Given the description of an element on the screen output the (x, y) to click on. 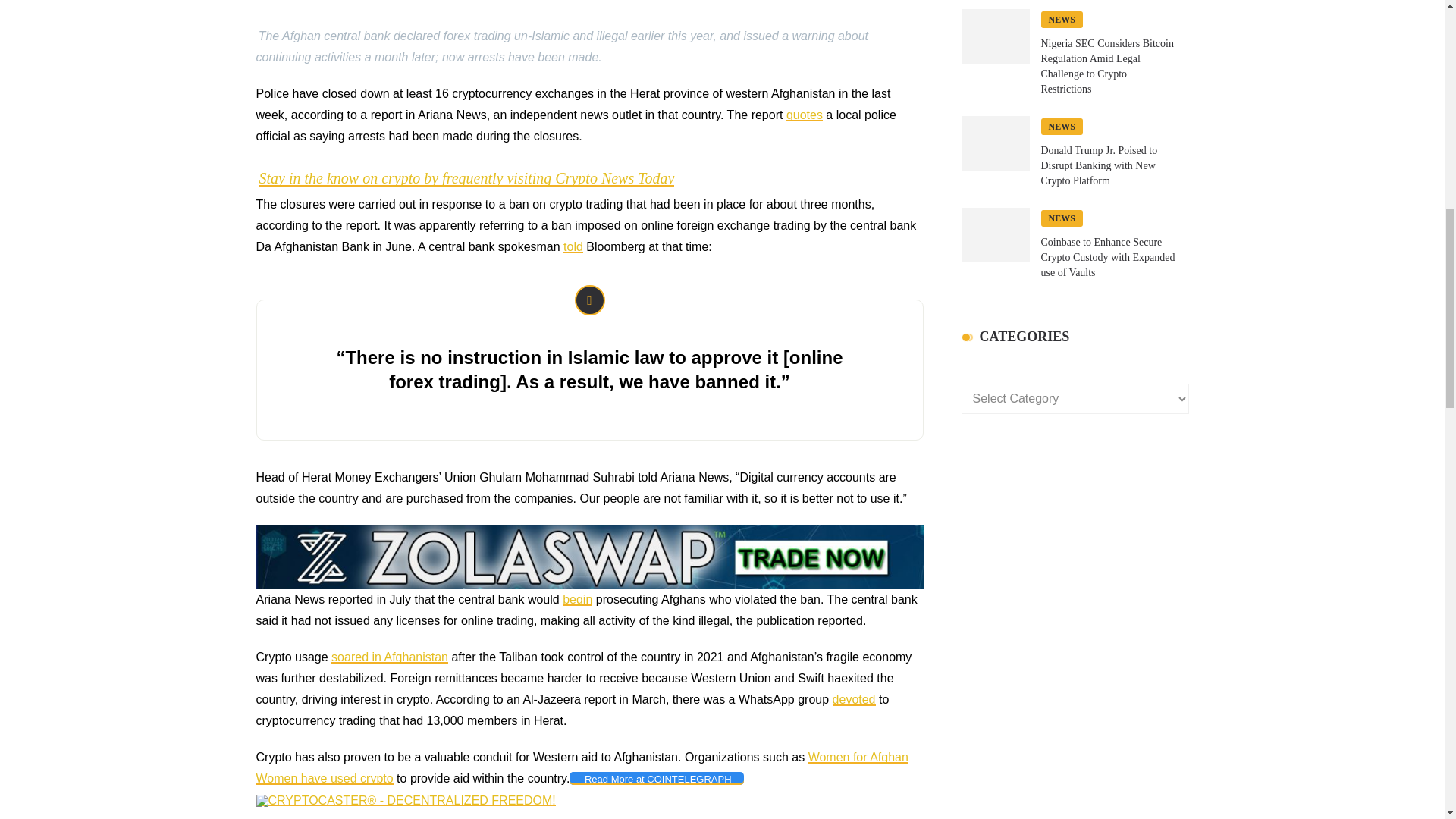
devoted (854, 698)
quotes (804, 114)
soared in Afghanistan (389, 656)
Read More at COINTELEGRAPH (655, 778)
told (573, 246)
Women for Afghan Women have used crypto (582, 767)
begin (577, 599)
